Given the description of an element on the screen output the (x, y) to click on. 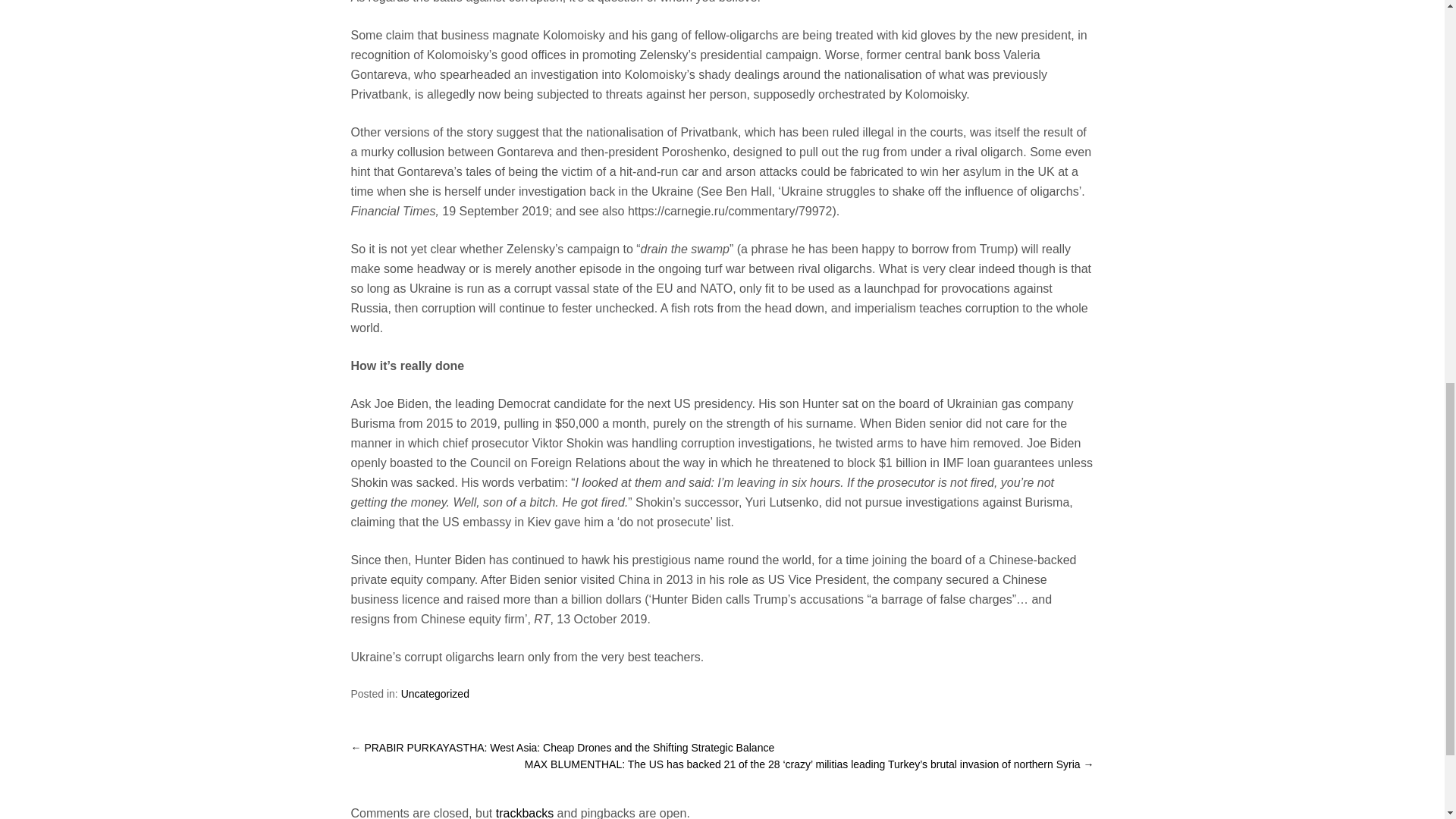
trackbacks (524, 812)
Uncategorized (434, 693)
Trackback URL for this post (524, 812)
